Given the description of an element on the screen output the (x, y) to click on. 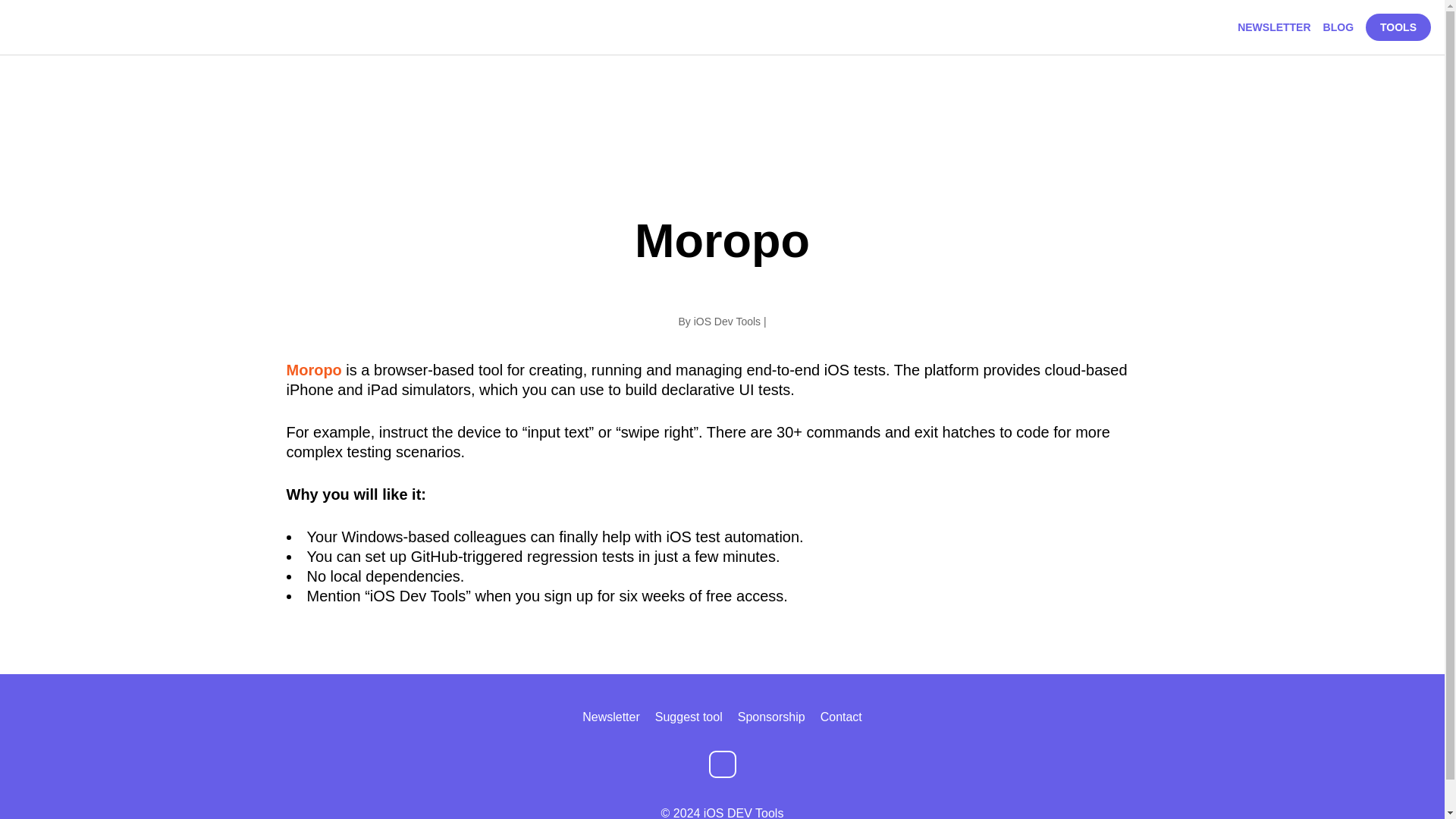
TOOLS (1398, 26)
Sponsorship (771, 716)
Newsletter (611, 716)
Newsletter (1273, 27)
BLOG (1338, 27)
Contact (841, 716)
Contact (841, 716)
Newsletter (611, 716)
Sponsorship (771, 716)
Moropo (314, 369)
iOS Dev Tools (727, 321)
Blog (1338, 27)
Tools (1398, 26)
Suggest tool (688, 716)
Suggest tool (688, 716)
